Given the description of an element on the screen output the (x, y) to click on. 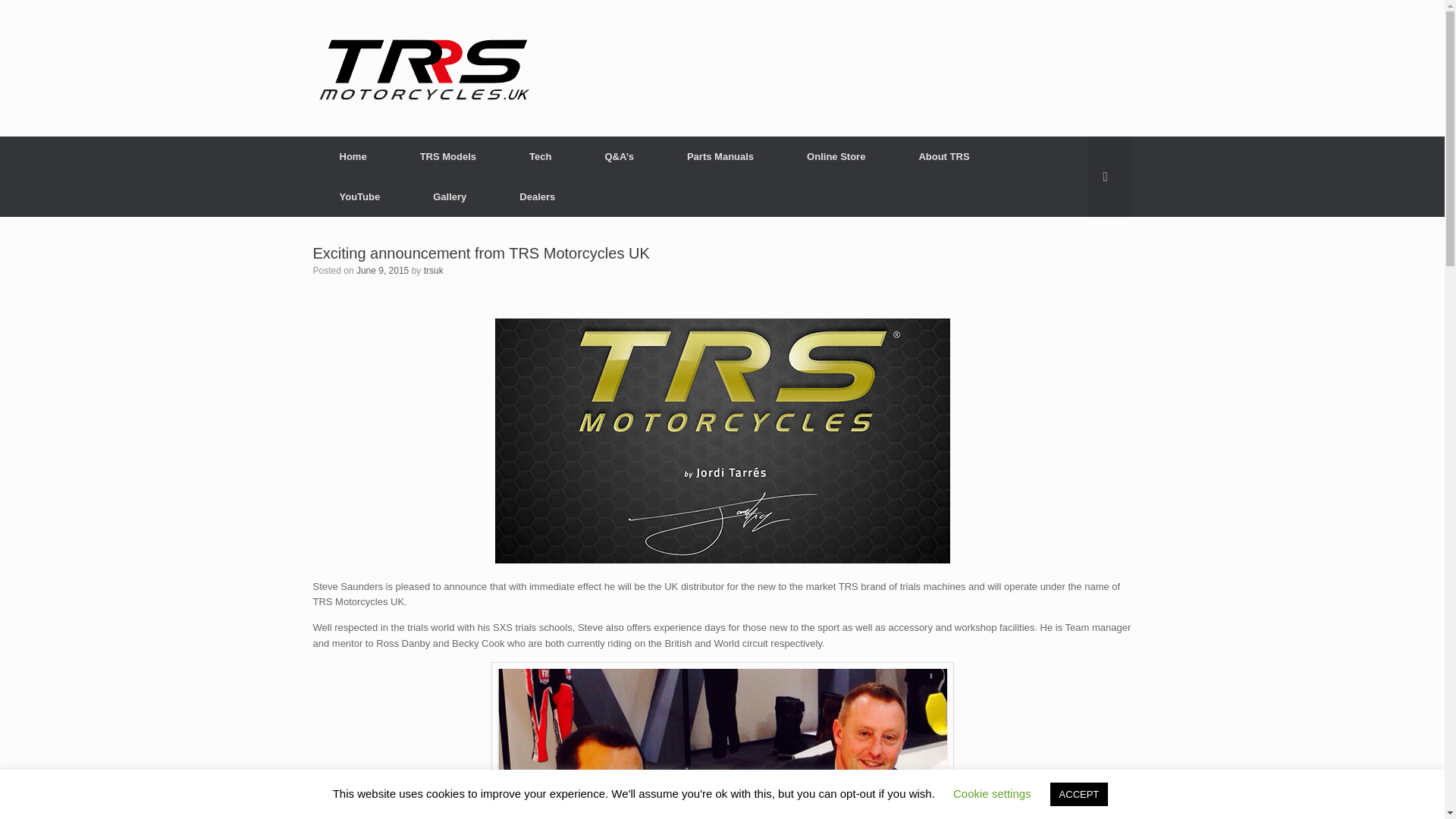
Dealers (536, 196)
12:12 (382, 270)
Home (353, 156)
Tech (540, 156)
Online Store (835, 156)
View all posts by trsuk (433, 270)
June 9, 2015 (382, 270)
About TRS (943, 156)
Parts Manuals (720, 156)
TRS Models (447, 156)
Gallery (449, 196)
YouTube (359, 196)
trsuk (433, 270)
